Given the description of an element on the screen output the (x, y) to click on. 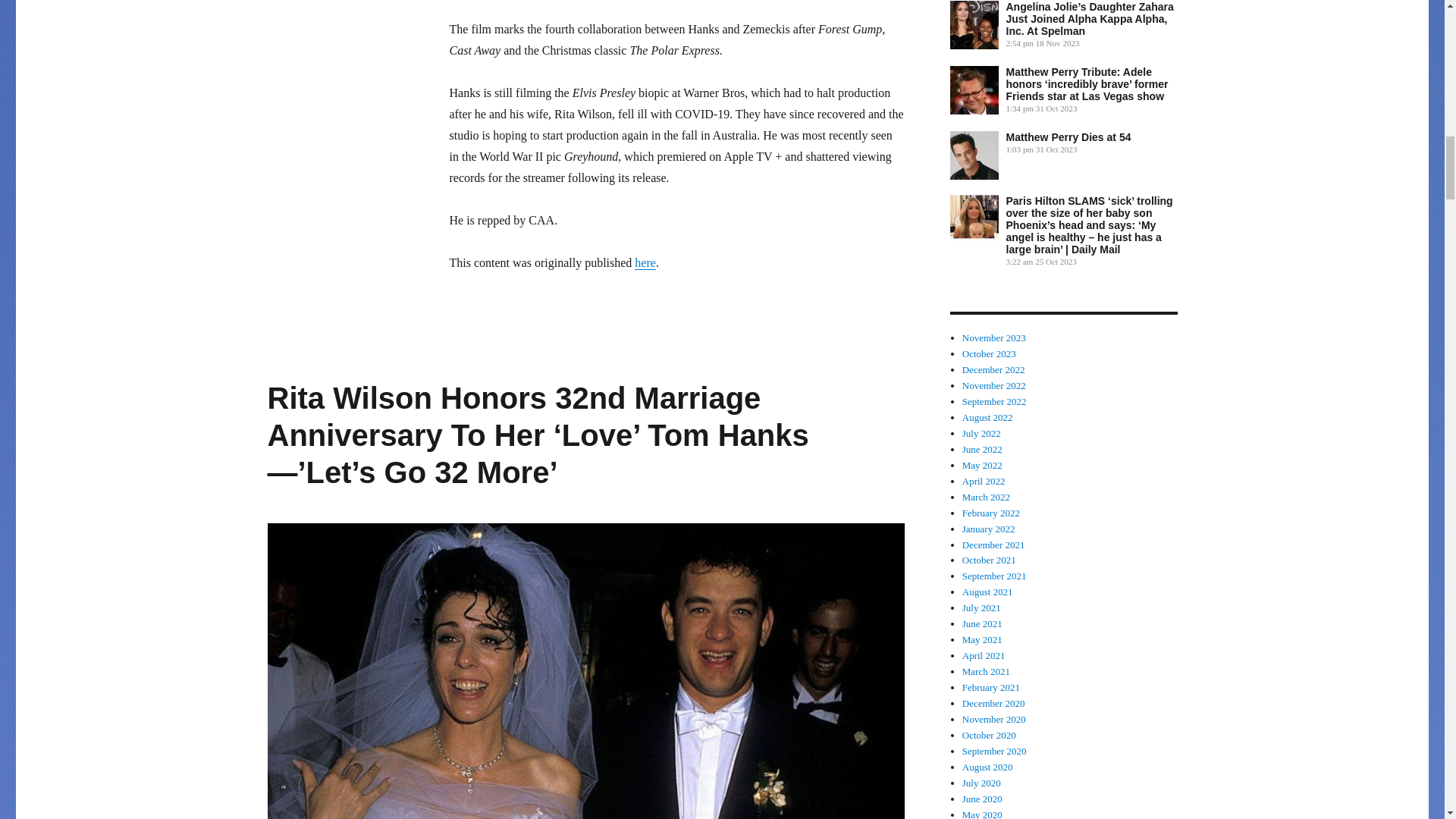
here (645, 262)
